Given the description of an element on the screen output the (x, y) to click on. 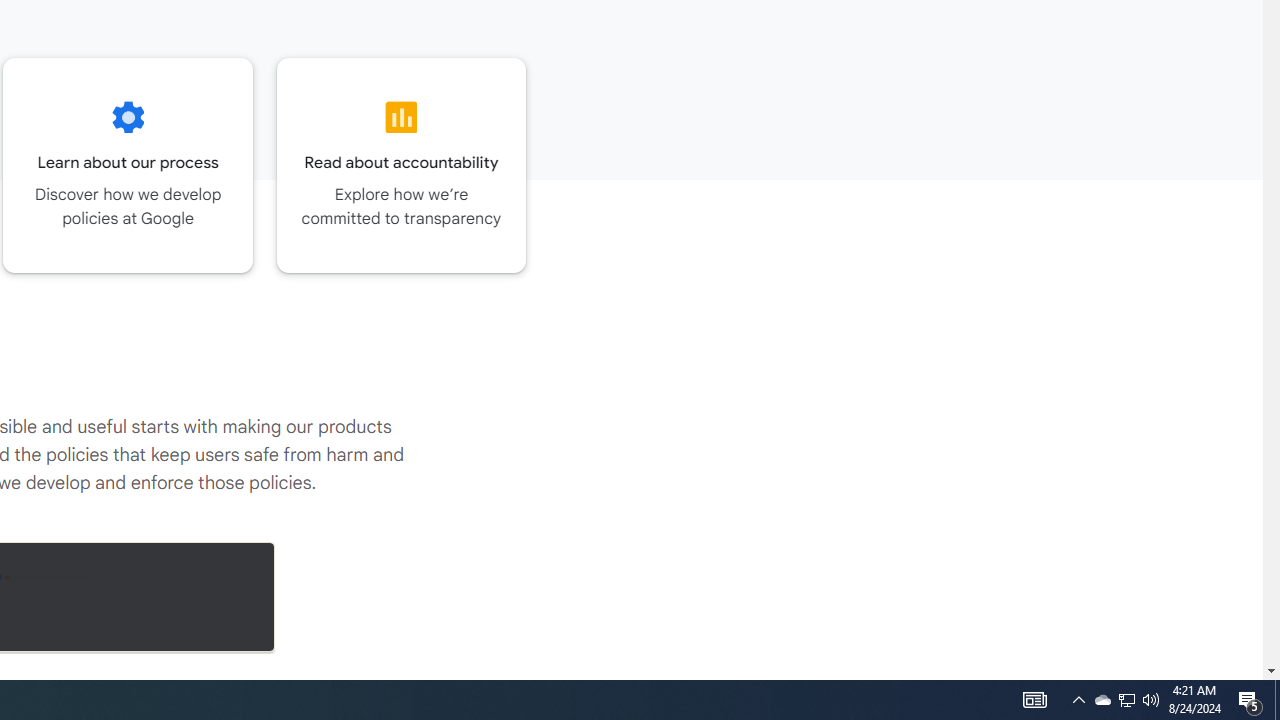
Go to the Accountability page (401, 165)
Go to the Our process page (127, 165)
